Given the description of an element on the screen output the (x, y) to click on. 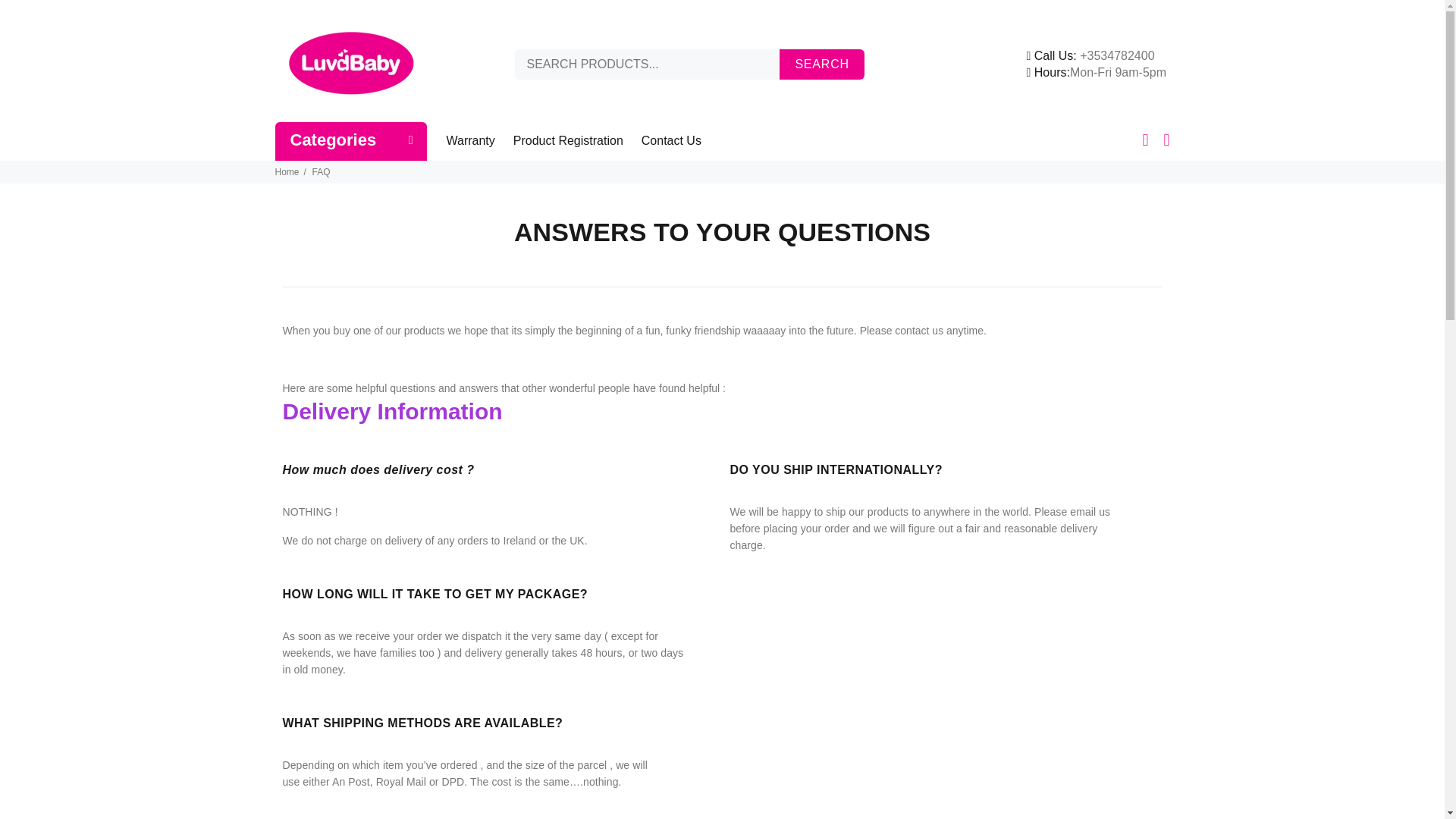
Product Registration (567, 141)
Contact Us (666, 141)
Warranty (474, 141)
Categories (350, 141)
SEARCH (820, 64)
